Given the description of an element on the screen output the (x, y) to click on. 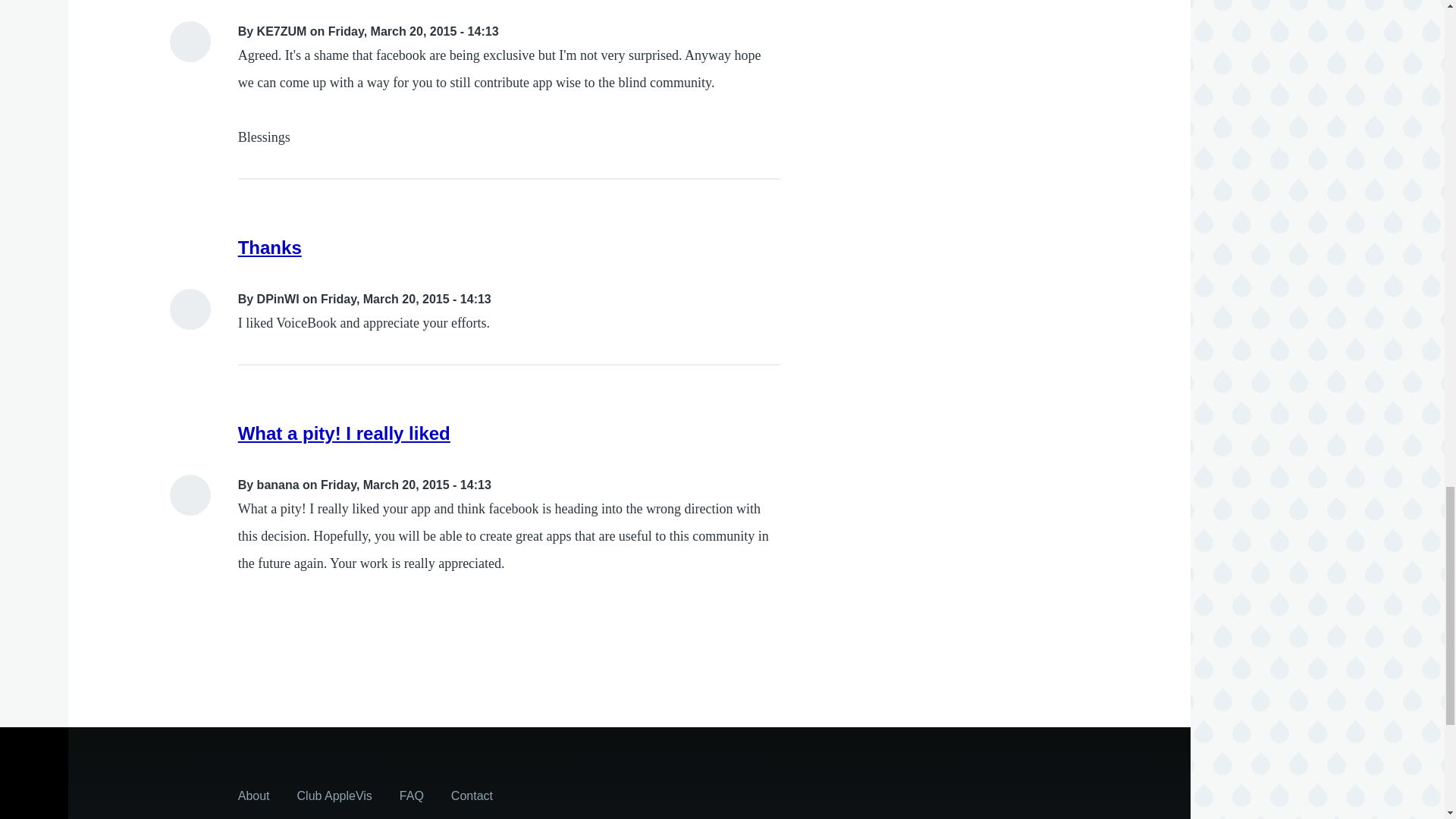
Contact (472, 795)
FAQ (410, 795)
About (253, 795)
Thanks (269, 247)
What a pity! I really liked (343, 433)
About (253, 795)
Club AppleVis (334, 795)
Answers to some frequently asked questions about AppleVis (410, 795)
